Given the description of an element on the screen output the (x, y) to click on. 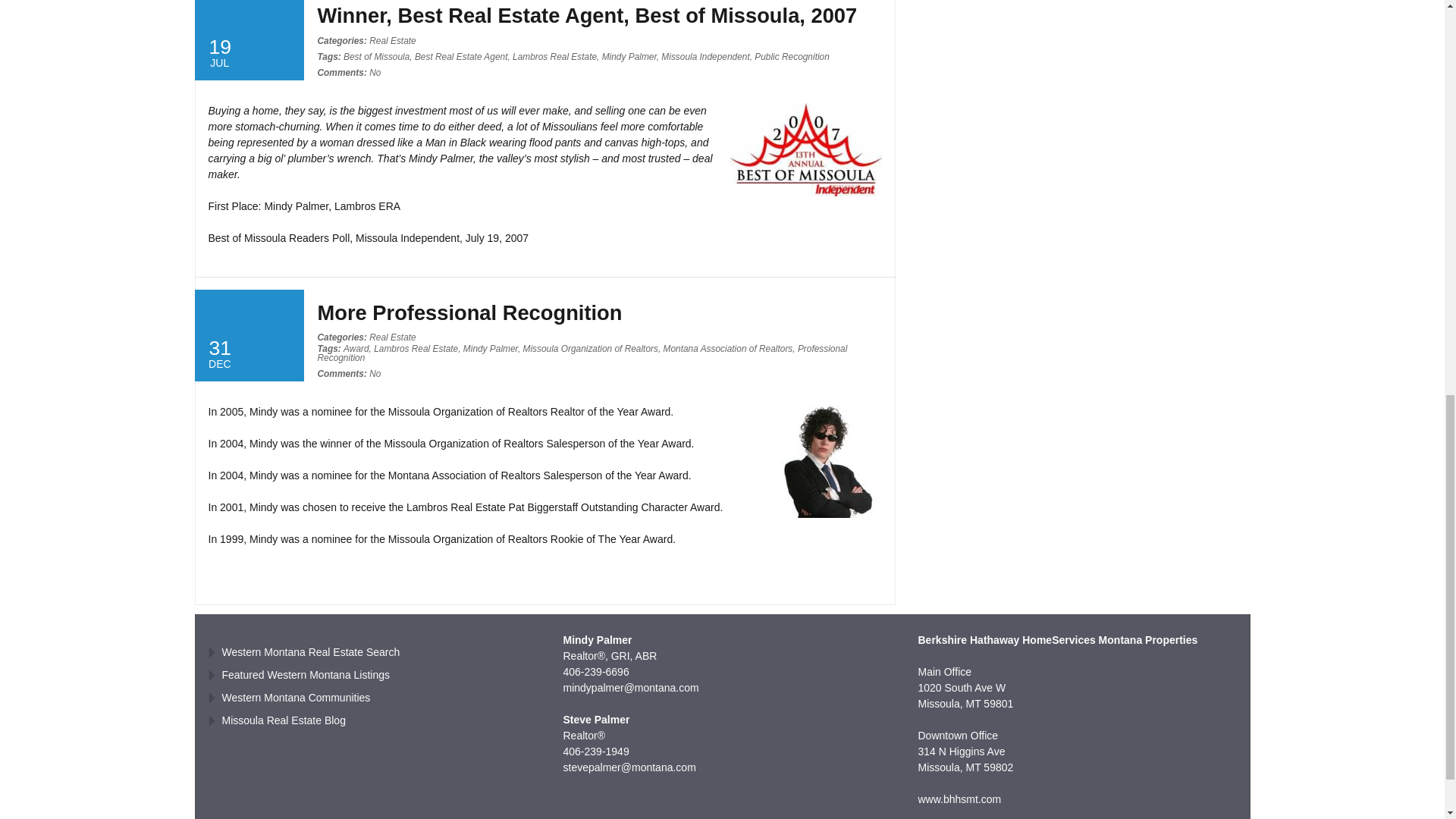
December 31, 2005 (247, 335)
Best of Missoula (376, 56)
Real Estate (391, 337)
Mindy Palmer (629, 56)
Best Real Estate Agent (461, 56)
Winner, Best Real Estate Agent, Best of Missoula, 2007 (587, 15)
Public Recognition (791, 56)
Comments: No (348, 72)
More Professional Recognition (469, 312)
Lambros Real Estate (554, 56)
July 19, 2007 (247, 39)
Missoula Independent (705, 56)
Real Estate (391, 40)
